Given the description of an element on the screen output the (x, y) to click on. 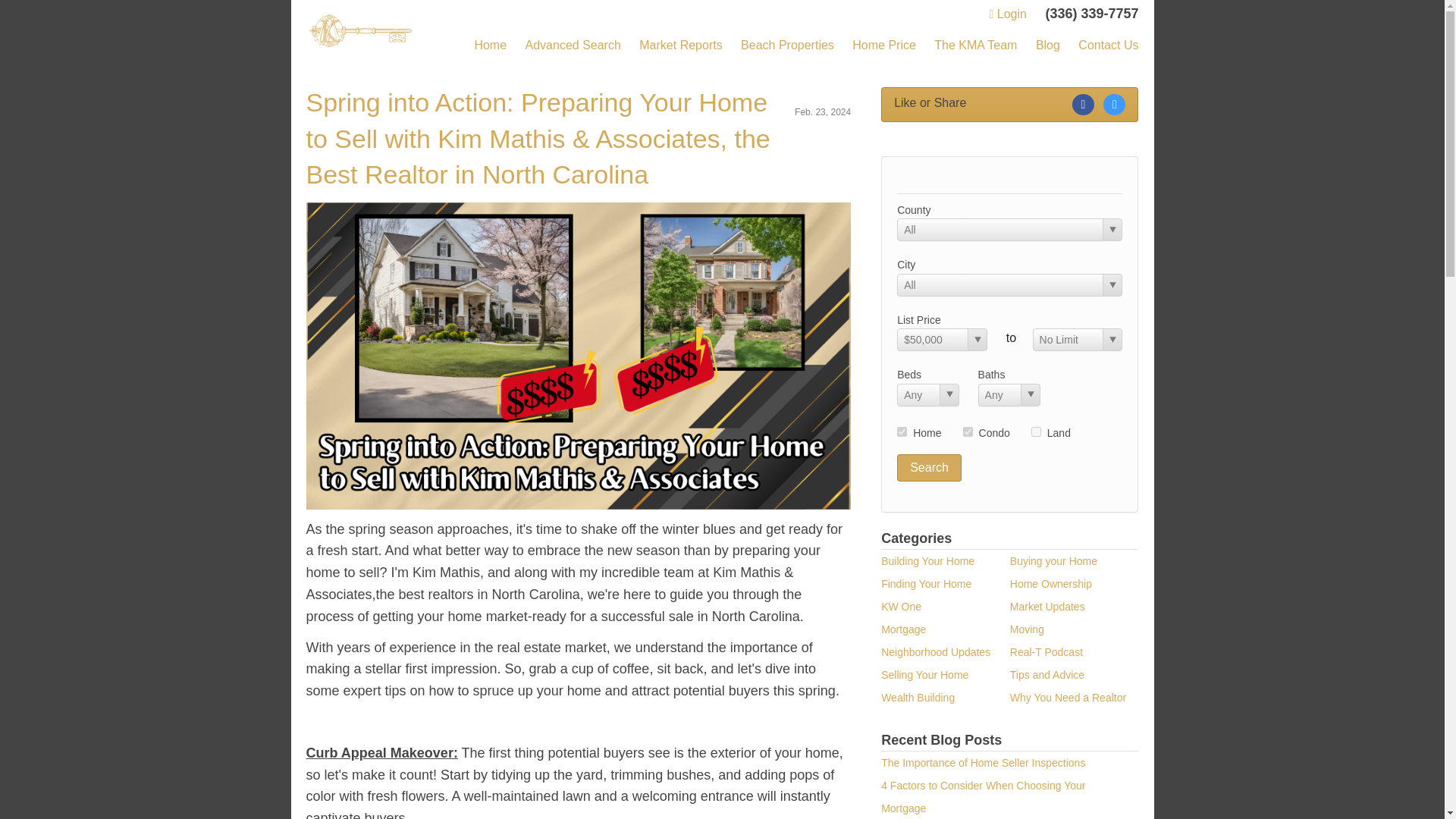
Login (1007, 13)
Mortgage (903, 629)
Finding Your Home (925, 583)
res (901, 431)
Selling Your Home (924, 674)
con (967, 431)
lnd (1035, 431)
Home Ownership (1051, 583)
Wealth Building (917, 697)
KW One (900, 606)
